Given the description of an element on the screen output the (x, y) to click on. 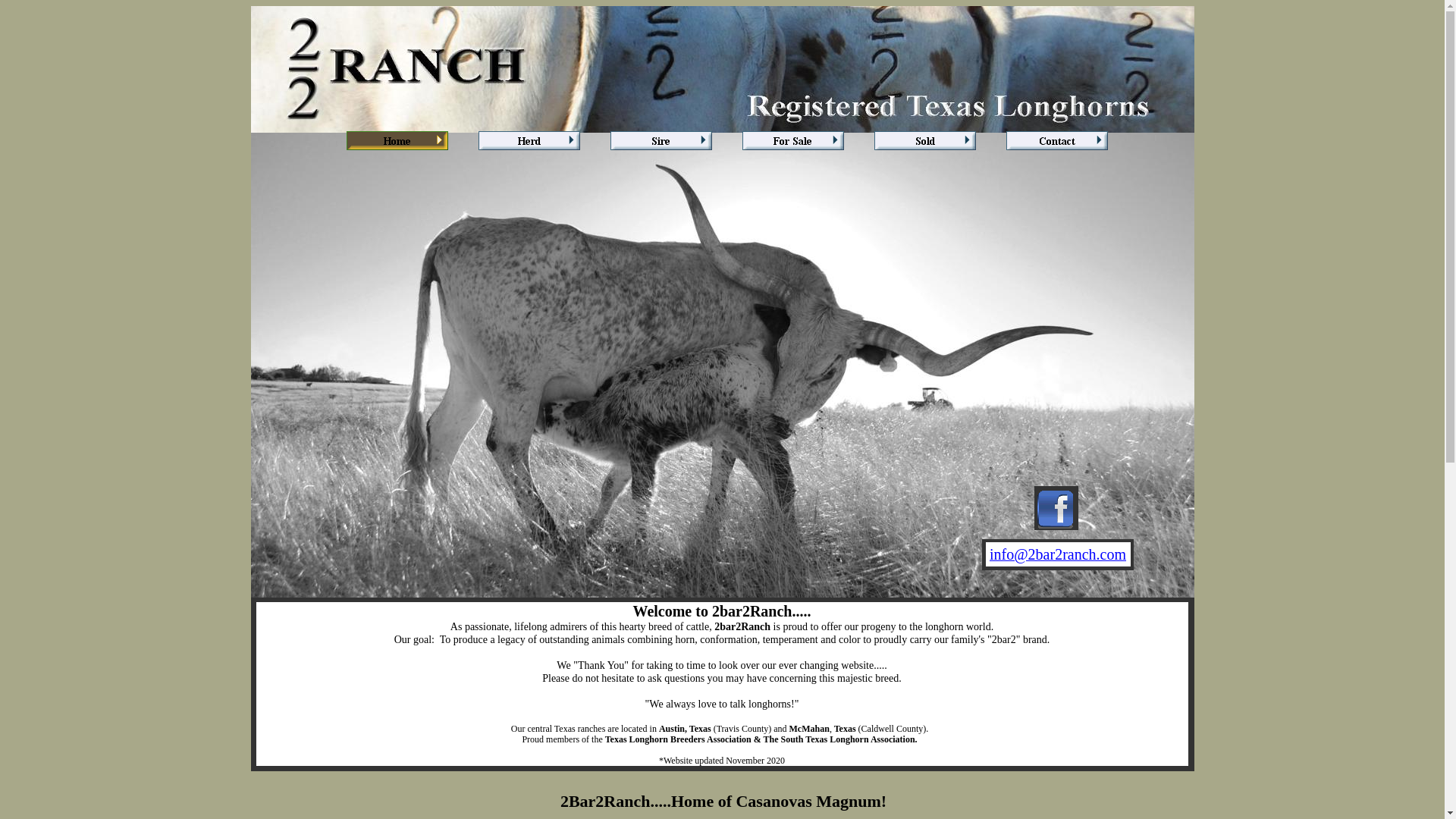
info@2bar2ranch.com Element type: text (1057, 555)
